Given the description of an element on the screen output the (x, y) to click on. 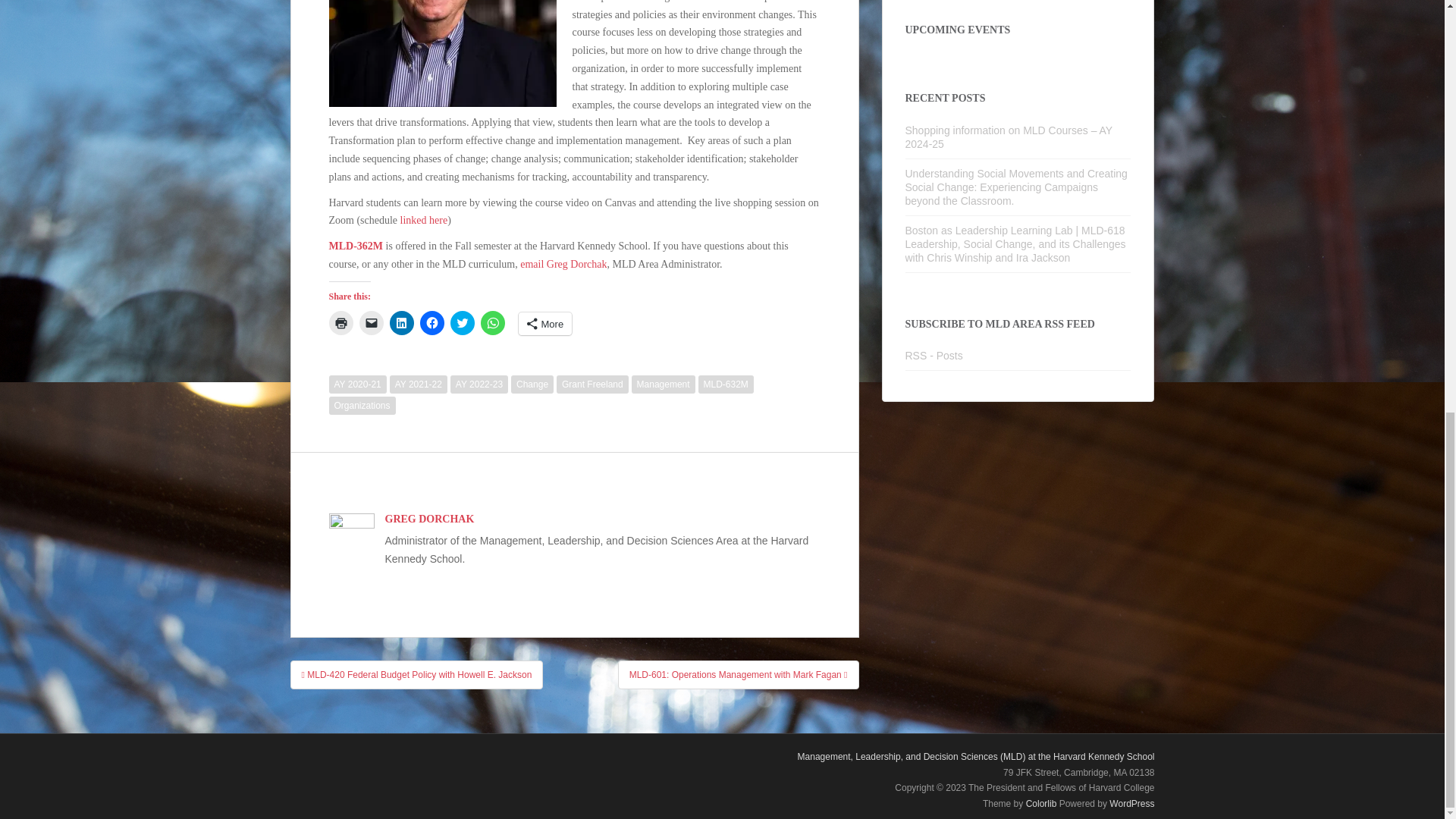
linked here (424, 220)
Click to share on LinkedIn (401, 322)
MLD-362M (356, 245)
Click to share on Twitter (461, 322)
Click to email a link to a friend (371, 322)
Click to share on WhatsApp (492, 322)
email Greg Dorchak (562, 264)
More (545, 323)
Click to print (341, 322)
Click to share on Facebook (432, 322)
